Given the description of an element on the screen output the (x, y) to click on. 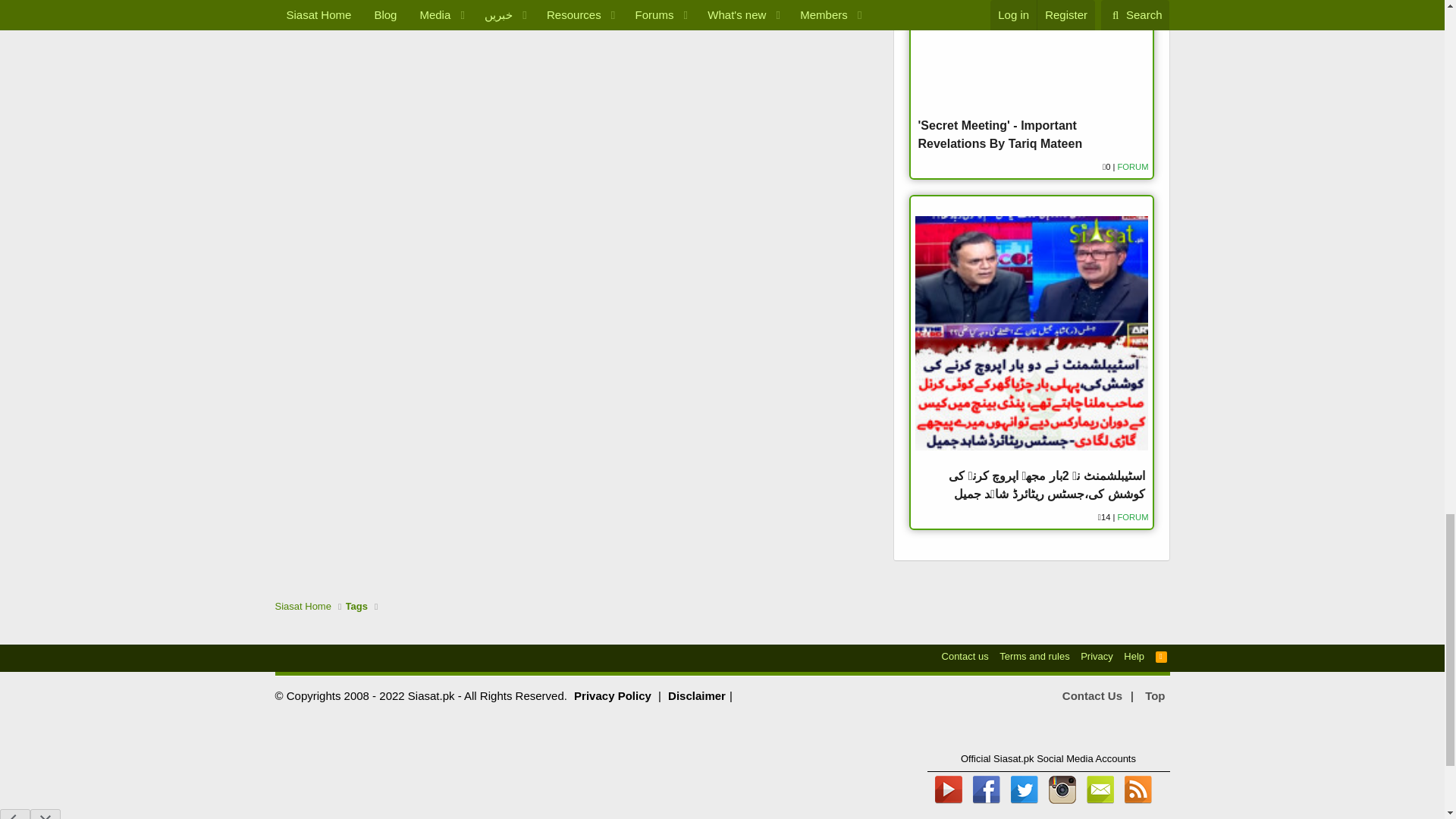
RSS (1161, 656)
